Given the description of an element on the screen output the (x, y) to click on. 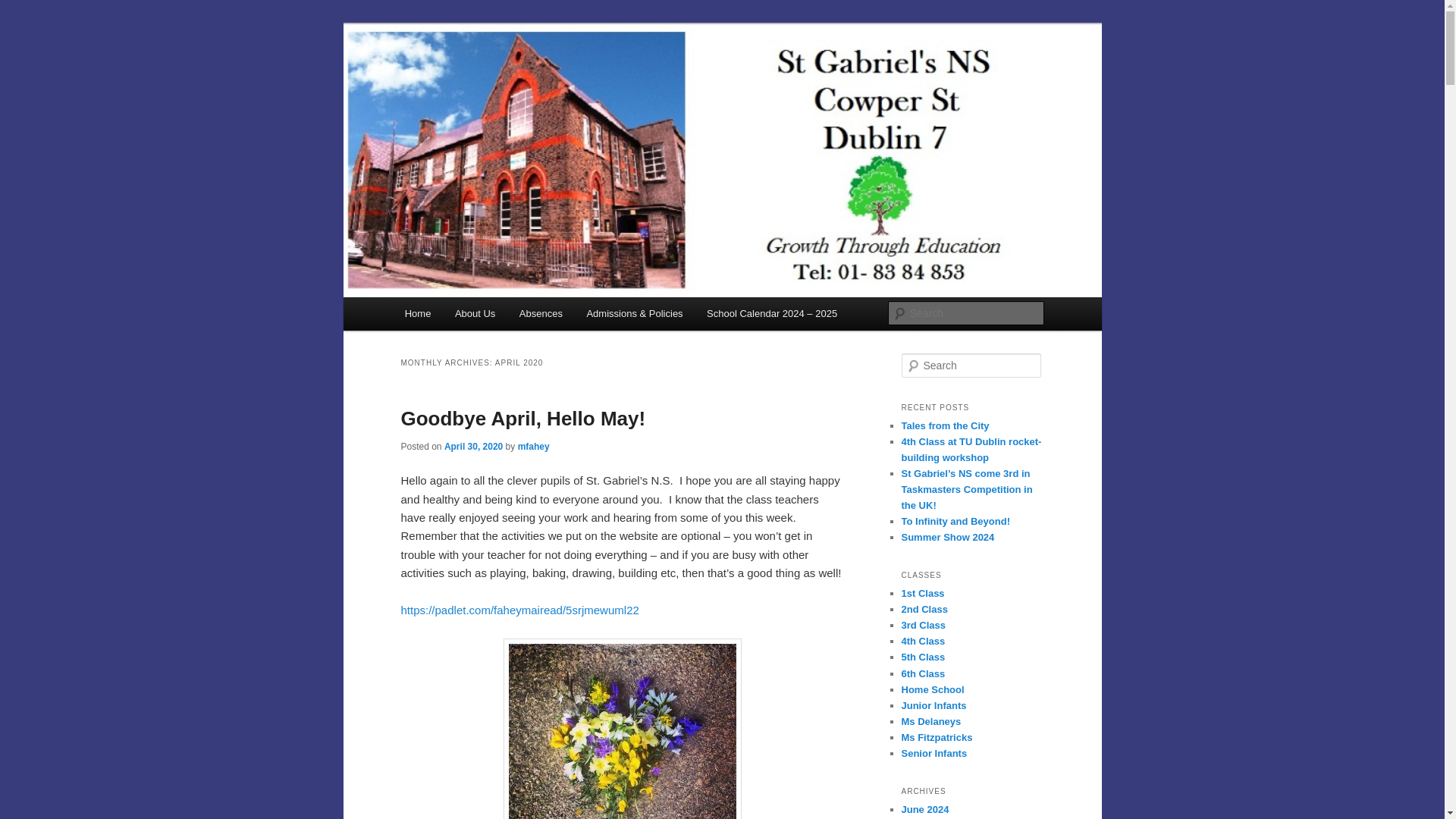
10:29 pm (473, 446)
Goodbye April, Hello May! (522, 418)
View all posts by mfahey (534, 446)
Home (417, 313)
St. Gabriels National School (552, 78)
Search (24, 8)
About Us (474, 313)
April 30, 2020 (473, 446)
mfahey (534, 446)
Absences (540, 313)
